Given the description of an element on the screen output the (x, y) to click on. 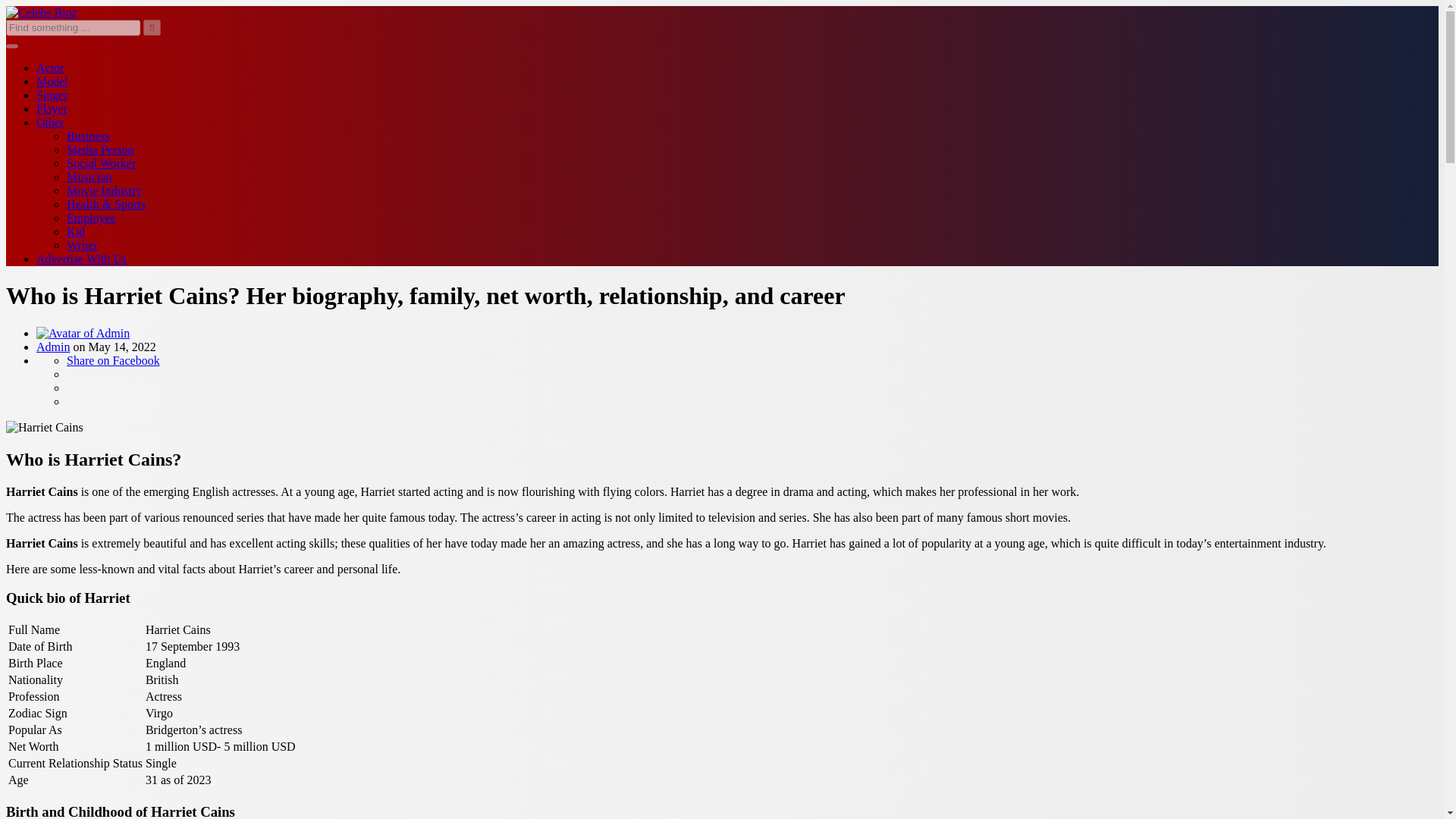
Model (52, 81)
Business (88, 135)
Singer (52, 94)
Other (50, 122)
Writer (81, 245)
Musician (89, 176)
Share on Facebook (113, 359)
Employee (91, 217)
Kid (75, 231)
Advertise With Us (81, 258)
